Given the description of an element on the screen output the (x, y) to click on. 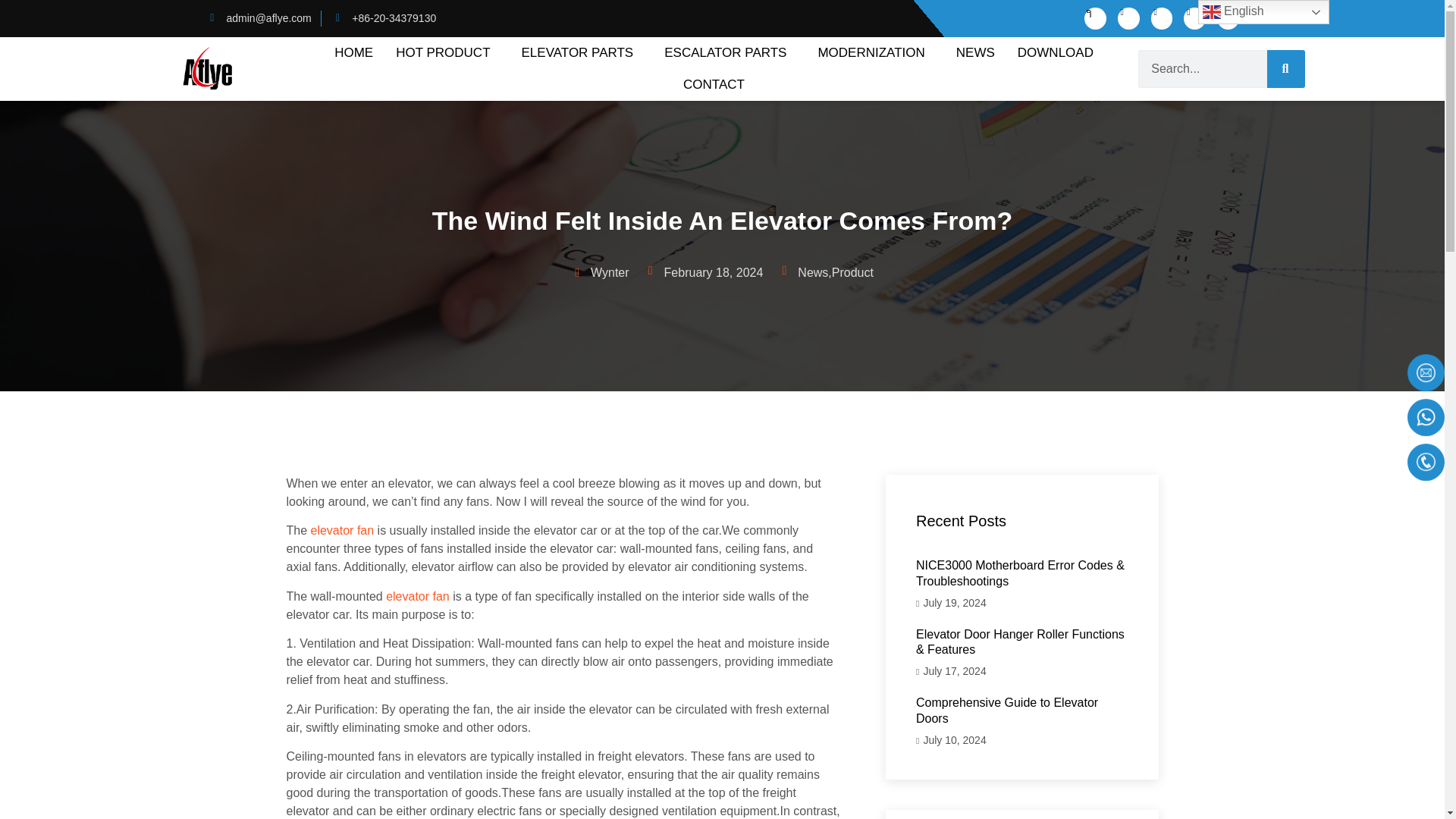
ESCALATOR PARTS (729, 52)
elevator fan (342, 530)
elevator fan (417, 595)
CONTACT (713, 84)
NEWS (975, 52)
MODERNIZATION (874, 52)
HOME (353, 52)
HOT PRODUCT (446, 52)
DOWNLOAD (1055, 52)
ELEVATOR PARTS (582, 52)
